Given the description of an element on the screen output the (x, y) to click on. 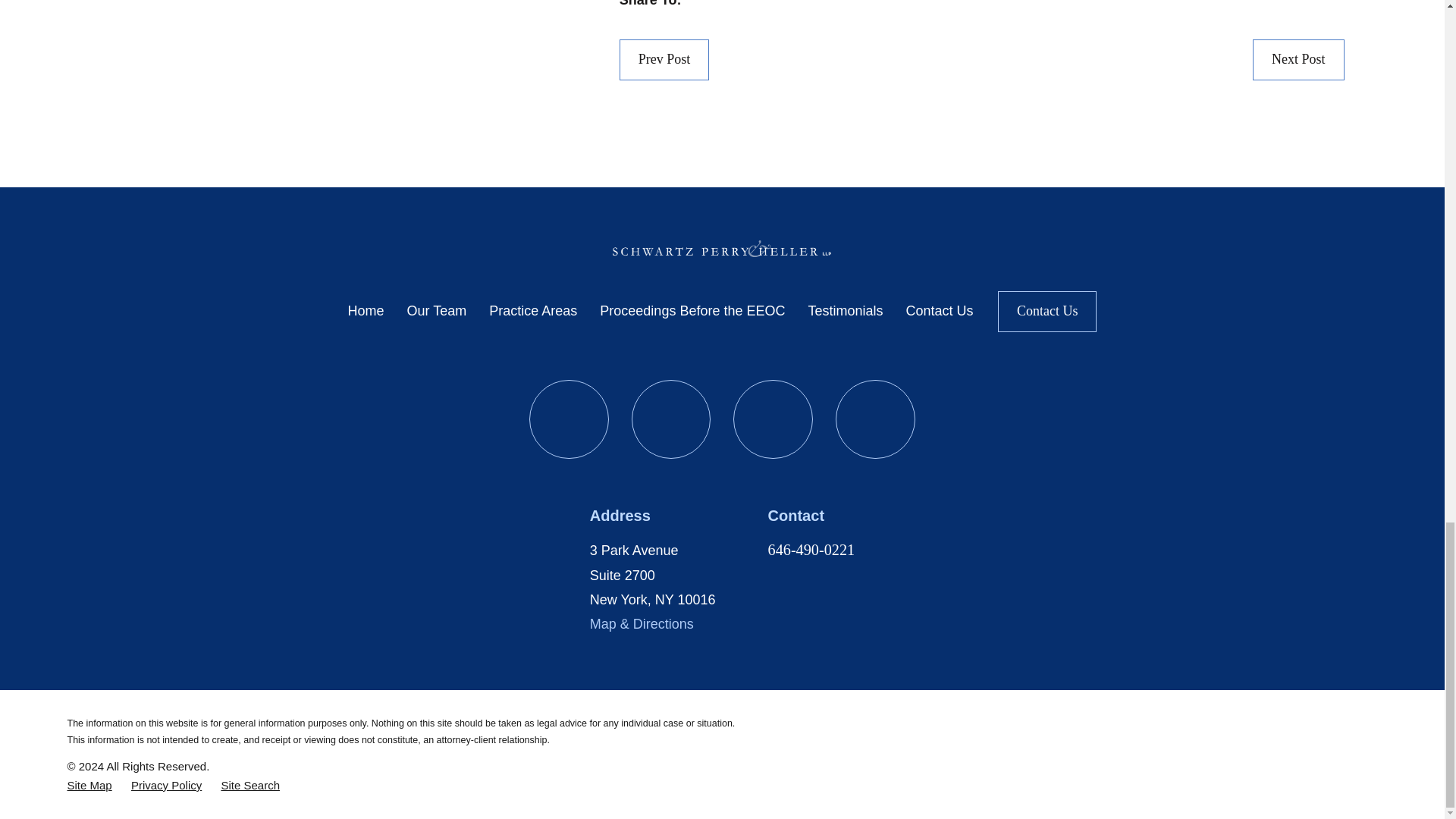
Twitter (772, 419)
LinkedIn (671, 419)
YouTube (568, 419)
Home (721, 248)
